Given the description of an element on the screen output the (x, y) to click on. 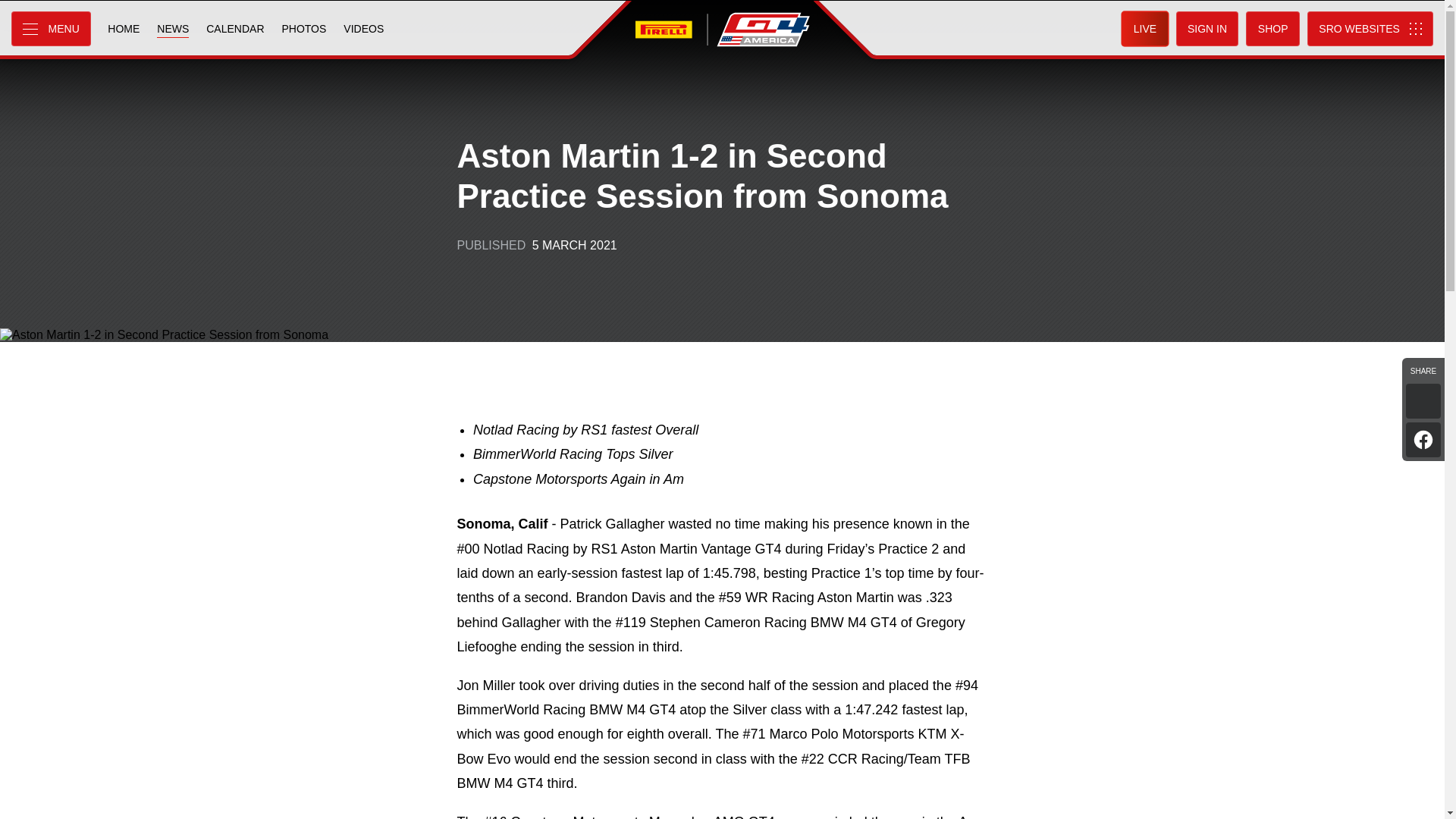
MENU (50, 28)
CALENDAR (234, 28)
HOME (123, 28)
NEWS (172, 28)
